Given the description of an element on the screen output the (x, y) to click on. 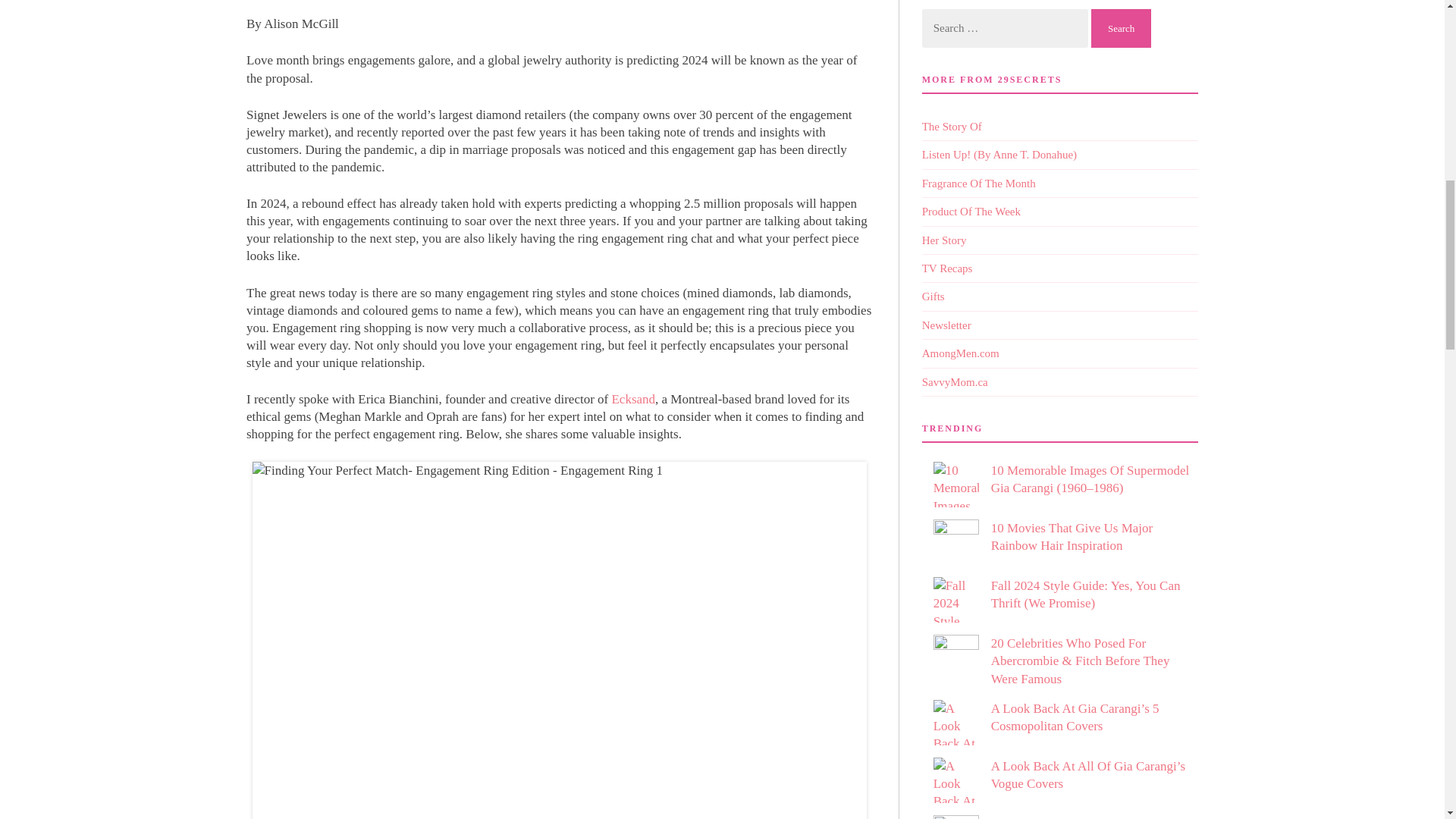
Search (1120, 28)
Ecksand (633, 399)
Search (1120, 28)
